Given the description of an element on the screen output the (x, y) to click on. 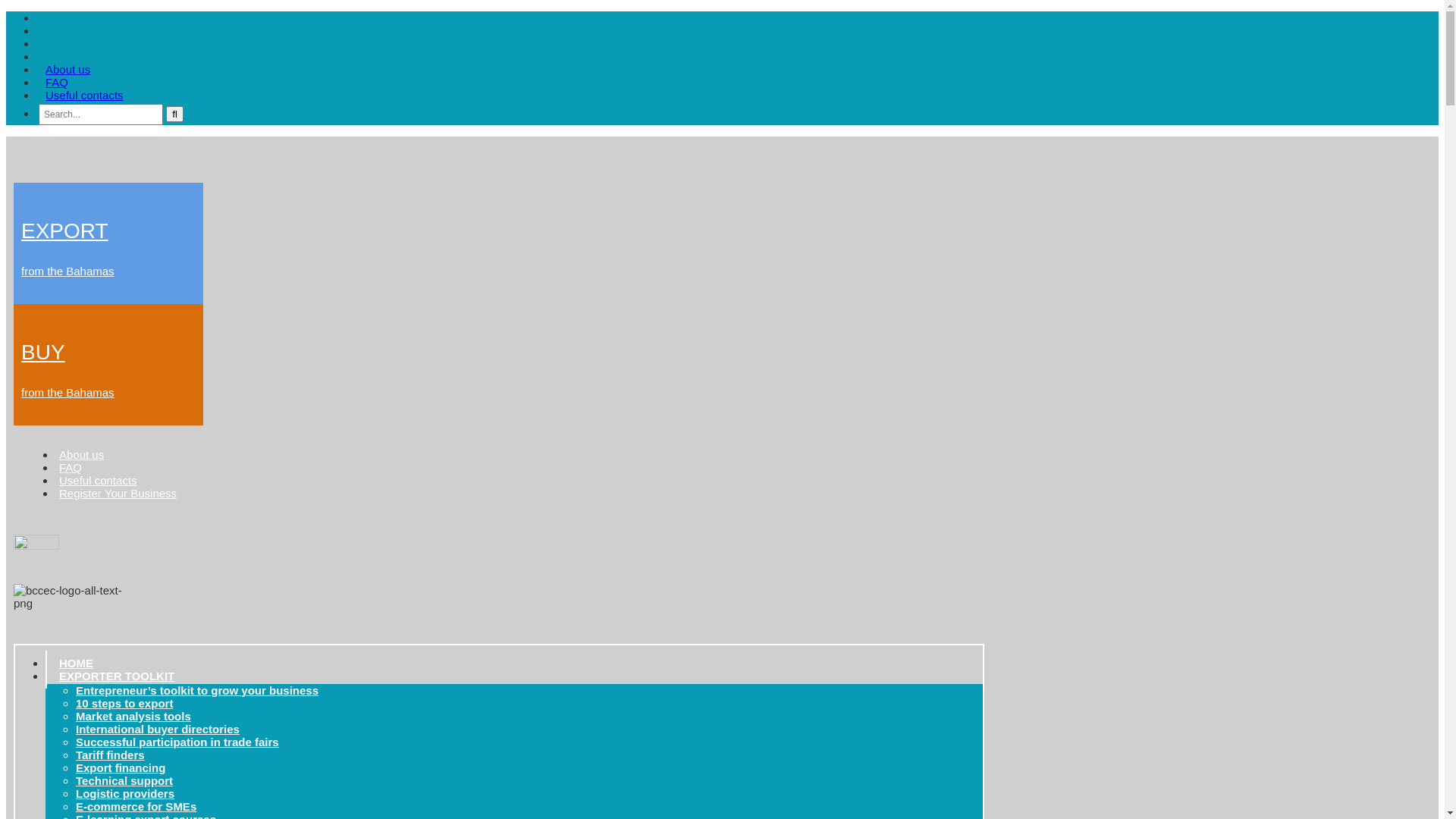
FAQ Element type: text (56, 82)
FAQ Element type: text (70, 467)
International buyer directories Element type: text (157, 728)
BUY Element type: text (43, 352)
10 steps to export Element type: text (123, 702)
Useful contacts Element type: text (84, 95)
Tariff finders Element type: text (109, 754)
Export financing Element type: text (120, 767)
from the Bahamas Element type: text (67, 270)
Successful participation in trade fairs Element type: text (177, 741)
Market analysis tools Element type: text (133, 715)
Register Your Business Element type: text (117, 492)
Logistic providers Element type: text (124, 793)
Technical support Element type: text (123, 780)
About us Element type: text (81, 454)
Useful contacts Element type: text (98, 479)
from the Bahamas Element type: text (67, 391)
EXPORTER TOOLKIT Element type: text (121, 675)
HOME Element type: text (75, 662)
About us Element type: text (67, 69)
E-commerce for SMEs Element type: text (135, 806)
EXPORT Element type: text (64, 230)
